Given the description of an element on the screen output the (x, y) to click on. 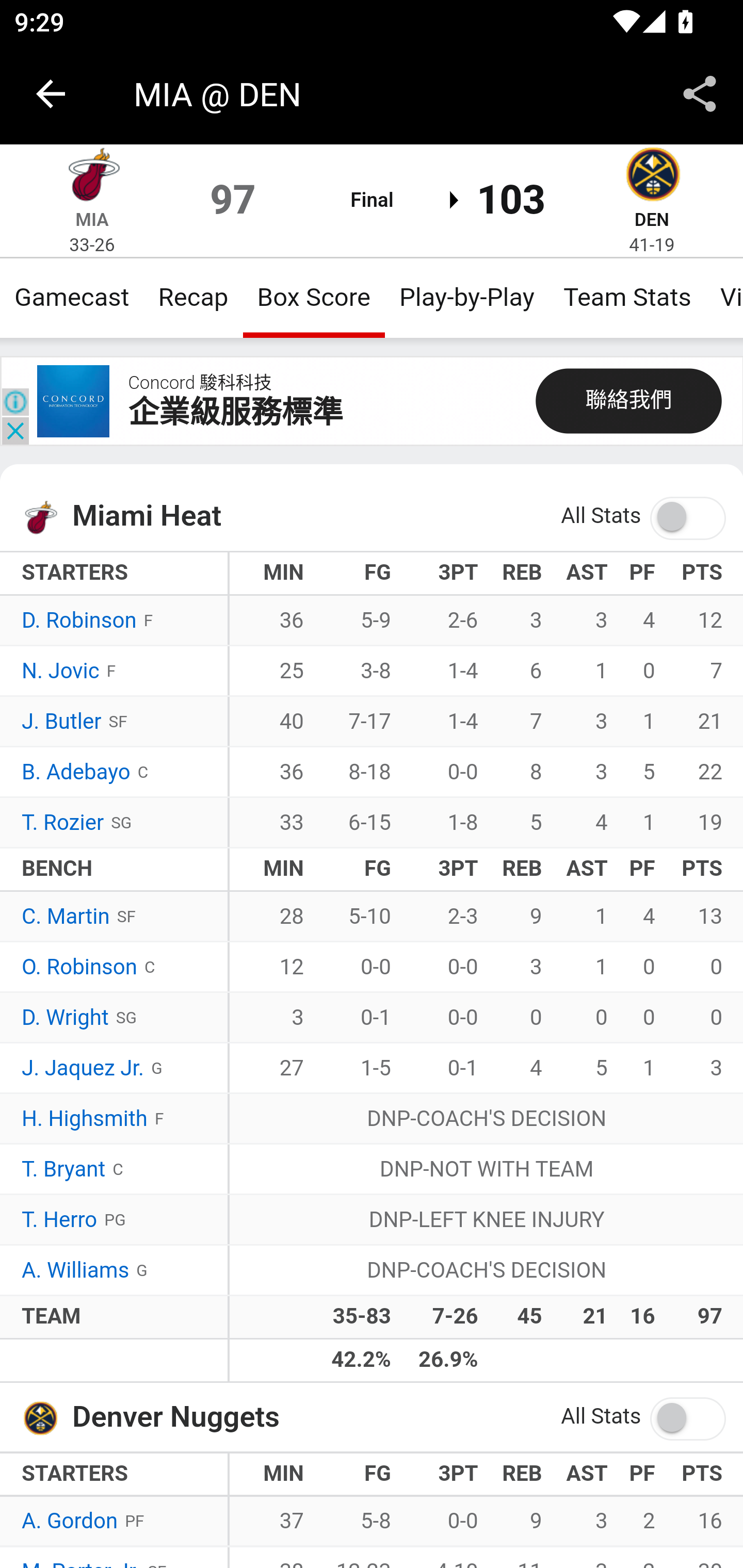
Navigate up (50, 93)
Share (699, 93)
Miami Heat (91, 177)
Denver Nuggets (651, 177)
MIA (91, 219)
DEN (651, 219)
Gamecast (72, 296)
Recap (192, 296)
Box Score (314, 296)
Play-by-Play (466, 296)
Team Stats (627, 296)
Concord 駿科科技 (199, 382)
企業級服務標準 (235, 412)
Miami Heat (46, 517)
D. Robinson (79, 621)
N. Jovic (61, 671)
J. Butler (61, 722)
B. Adebayo (76, 772)
T. Rozier (62, 823)
C. Martin (65, 916)
O. Robinson (79, 968)
D. Wright (65, 1018)
J. Jaquez Jr. (82, 1068)
H. Highsmith (84, 1118)
T. Bryant (63, 1170)
T. Herro (59, 1220)
A. Williams (75, 1270)
Denver Nuggets (46, 1416)
A. Gordon (69, 1521)
